Given the description of an element on the screen output the (x, y) to click on. 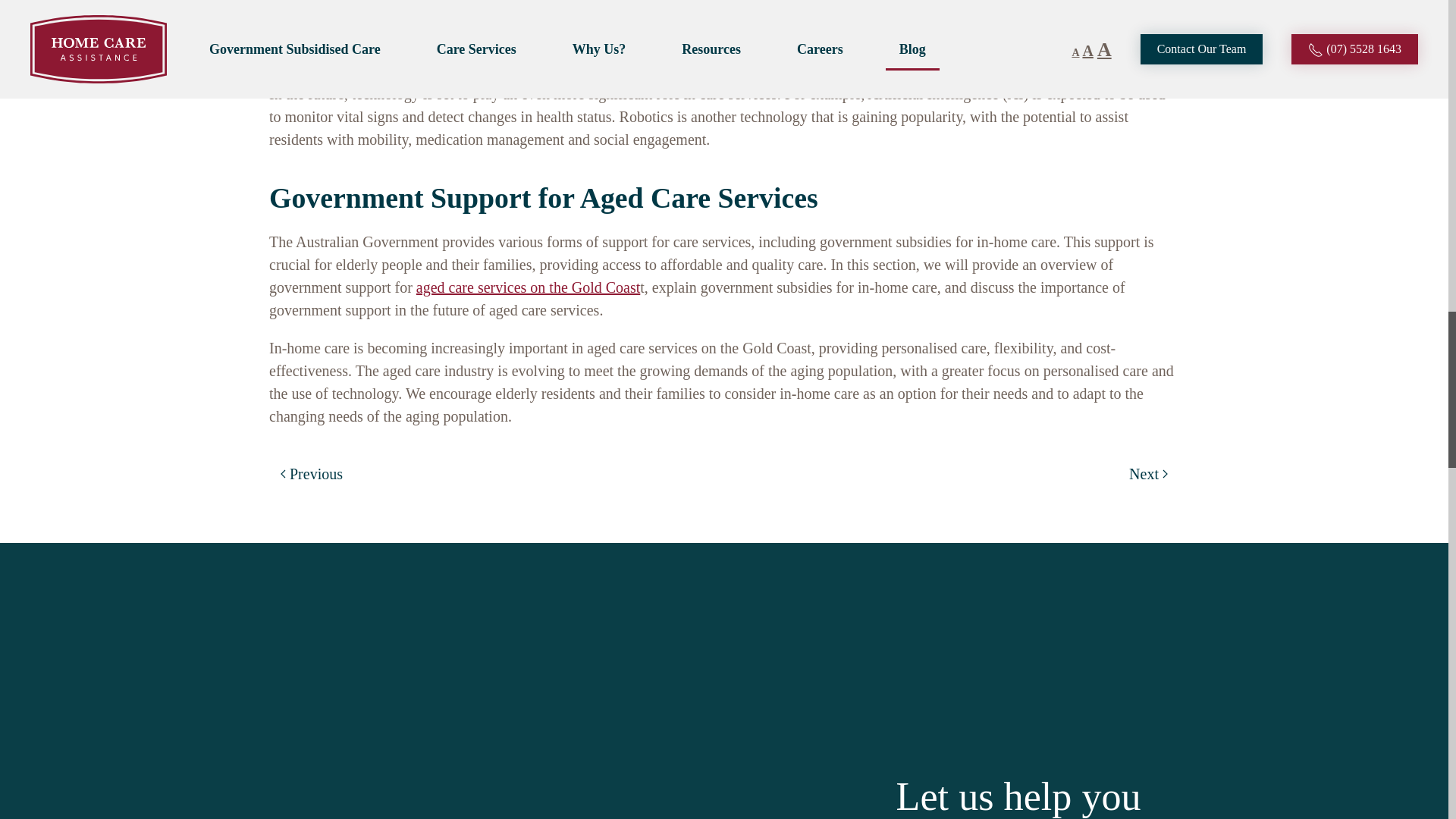
aged care services on the Gold Coast (528, 287)
